Given the description of an element on the screen output the (x, y) to click on. 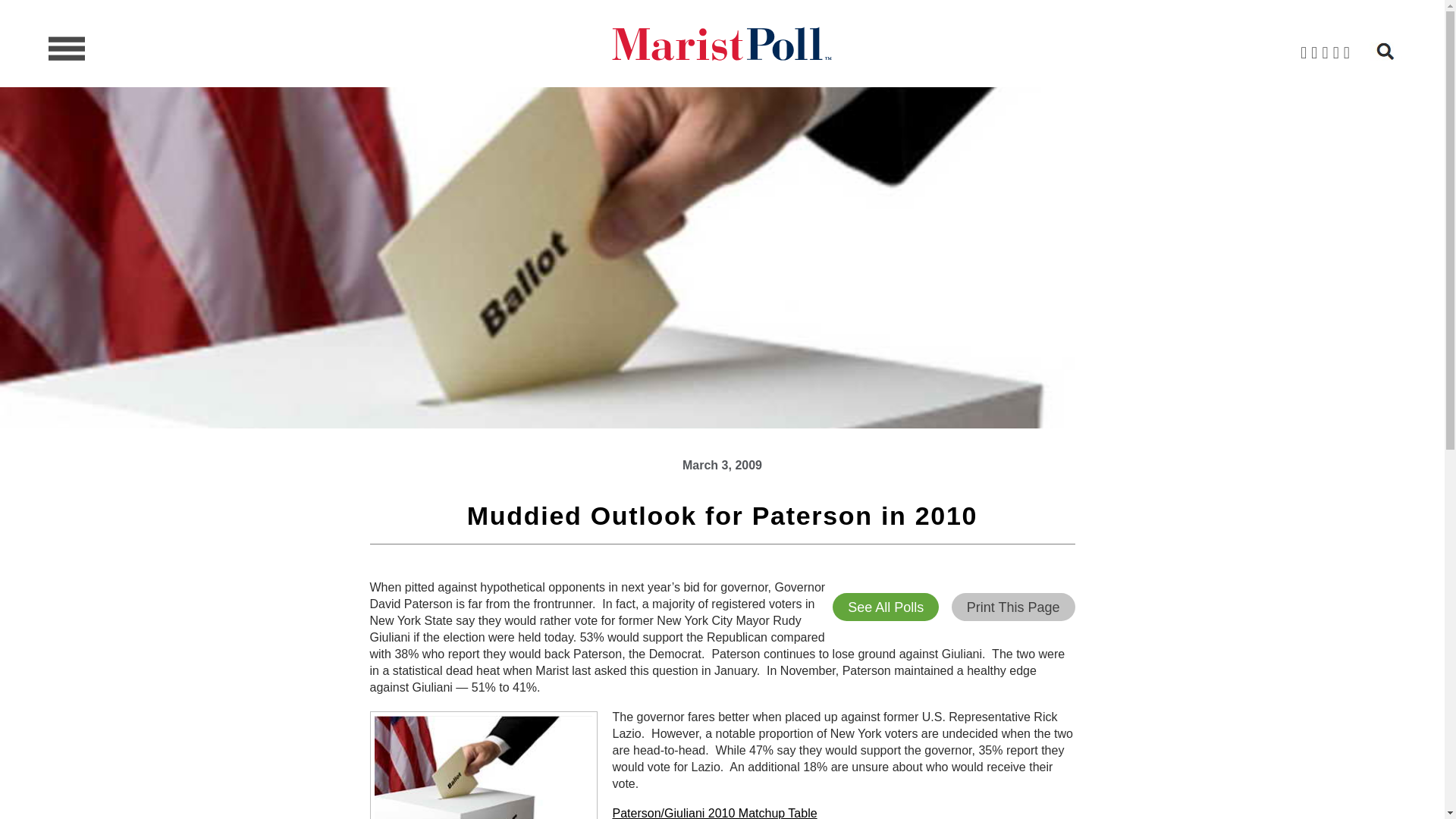
Print This Page (1013, 606)
Home of the Marist Poll (721, 43)
See All Polls (885, 606)
Home of the Marist Poll (721, 43)
